Given the description of an element on the screen output the (x, y) to click on. 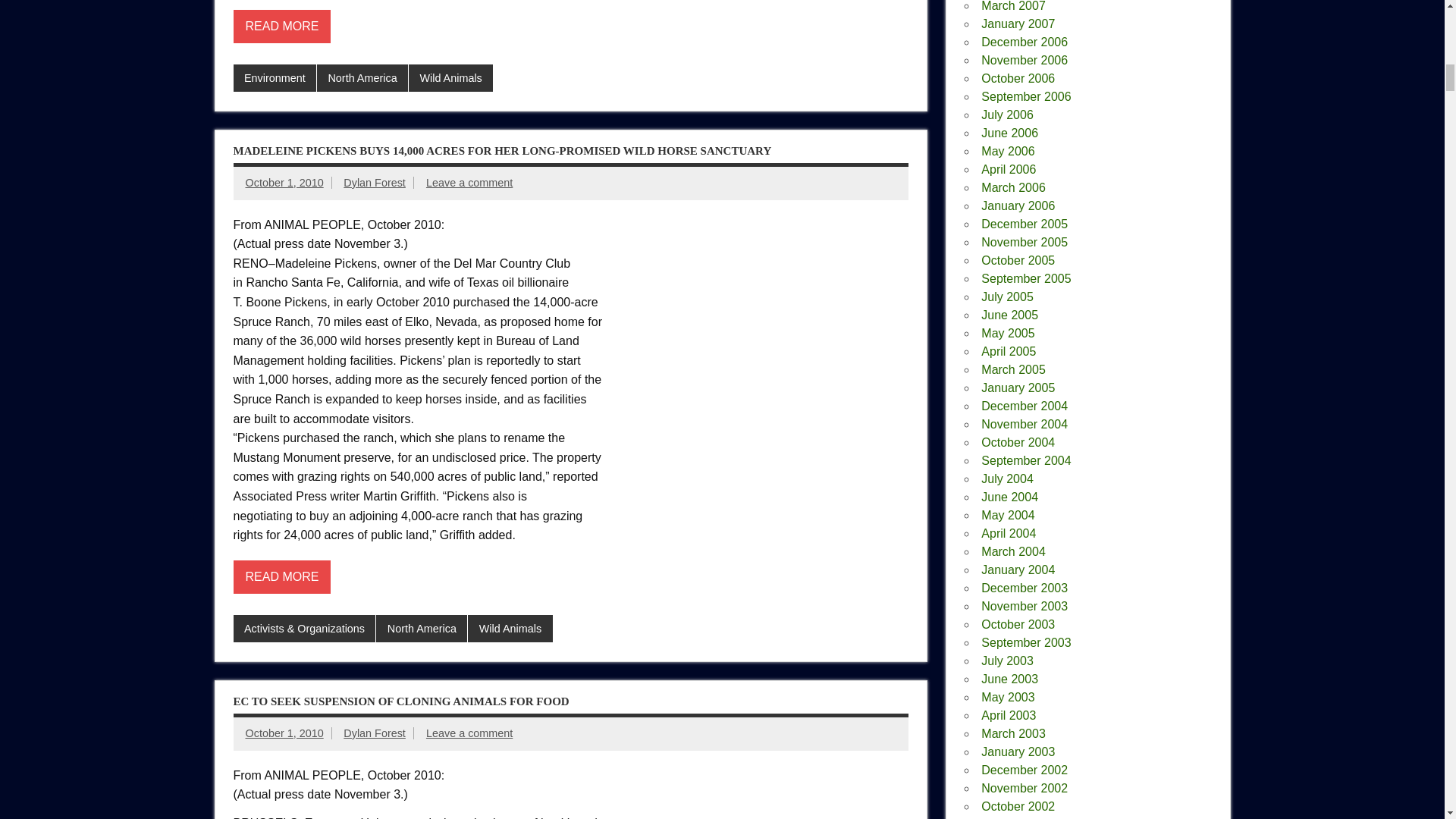
Dylan Forest (374, 182)
View all posts by Dylan Forest (374, 733)
Leave a comment (469, 182)
October 1, 2010 (284, 182)
North America (362, 77)
Environment (274, 77)
READ MORE (281, 26)
View all posts by Dylan Forest (374, 182)
Wild Animals (451, 77)
11:14 pm (284, 733)
11:15 pm (284, 182)
